Given the description of an element on the screen output the (x, y) to click on. 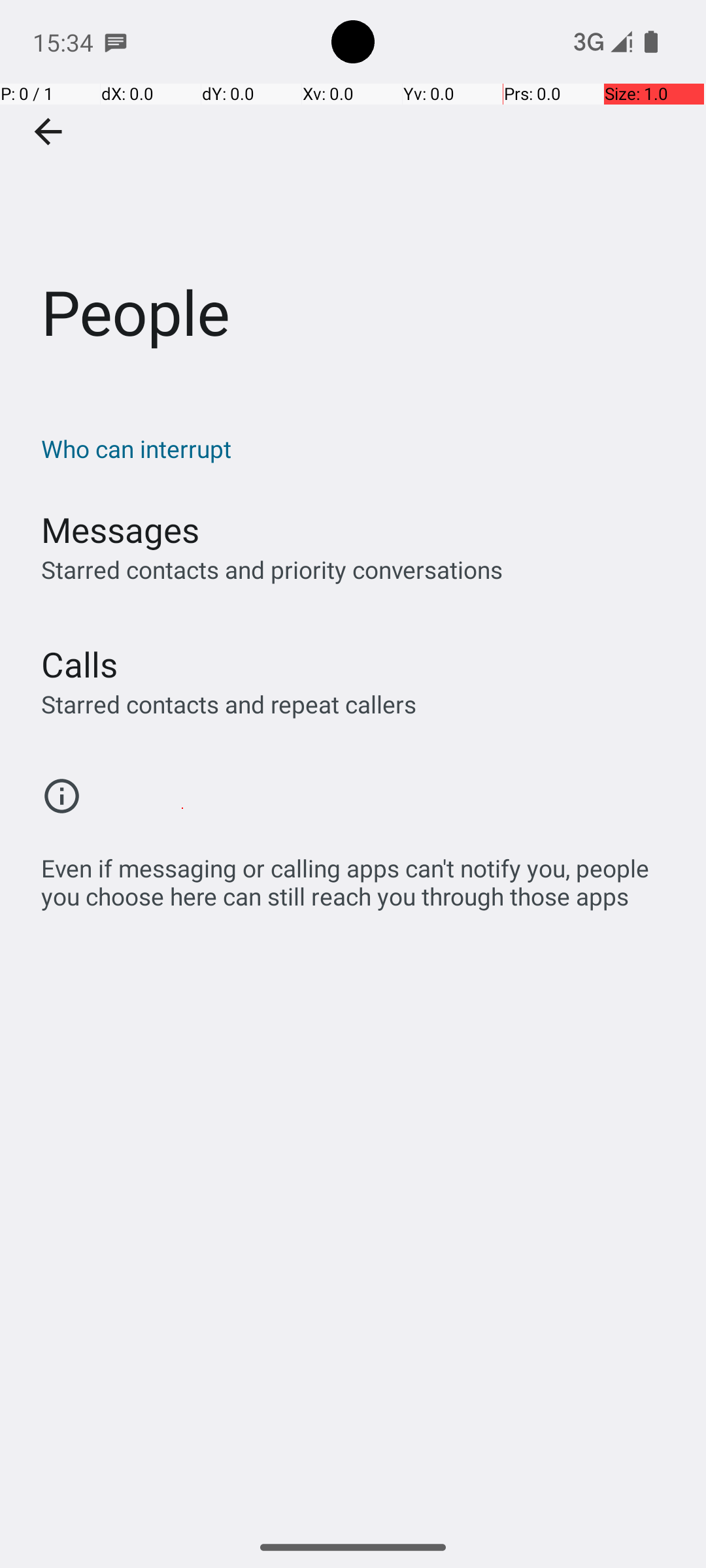
People Element type: android.widget.FrameLayout (353, 195)
Who can interrupt Element type: android.widget.TextView (359, 448)
Starred contacts and priority conversations Element type: android.widget.TextView (272, 569)
Calls Element type: android.widget.TextView (79, 663)
Starred contacts and repeat callers Element type: android.widget.TextView (229, 703)
Even if messaging or calling apps can't notify you, people you choose here can still reach you through those apps Element type: android.widget.TextView (359, 874)
